Given the description of an element on the screen output the (x, y) to click on. 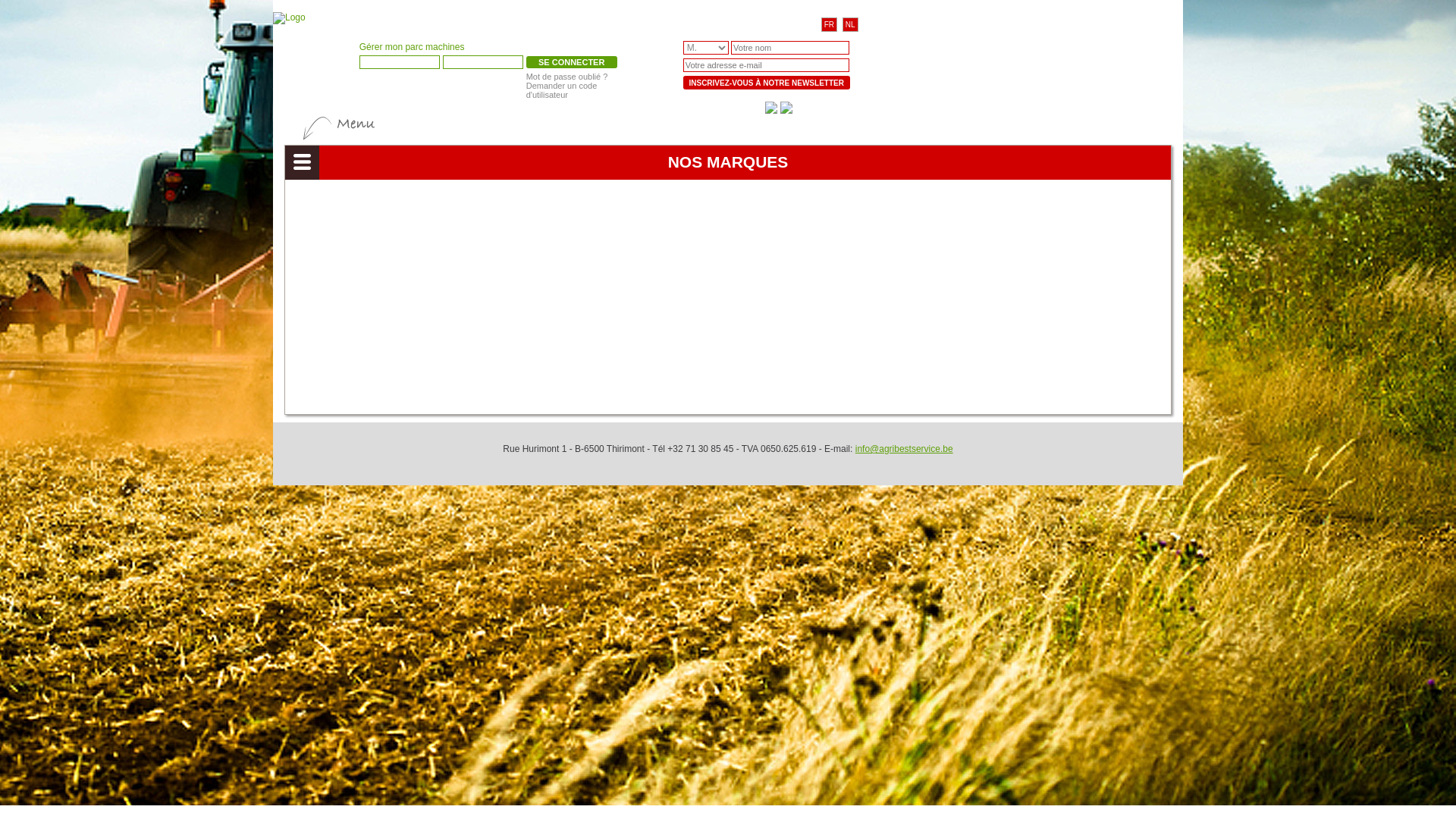
PROMO Element type: text (158, 264)
FR Element type: text (829, 24)
info@agribestservice.be Element type: text (904, 448)
Se connecter Element type: text (571, 62)
MACHINES NEUVES/D'OCCASIONS Element type: text (158, 196)
Demander un code d'utilisateur Element type: text (561, 90)
GALERIE PHOTOS Element type: text (158, 333)
NL Element type: text (850, 24)
NOS MARQUES Element type: text (158, 299)
ACCUEIL Element type: text (158, 162)
CONTACT Element type: text (158, 367)
